Given the description of an element on the screen output the (x, y) to click on. 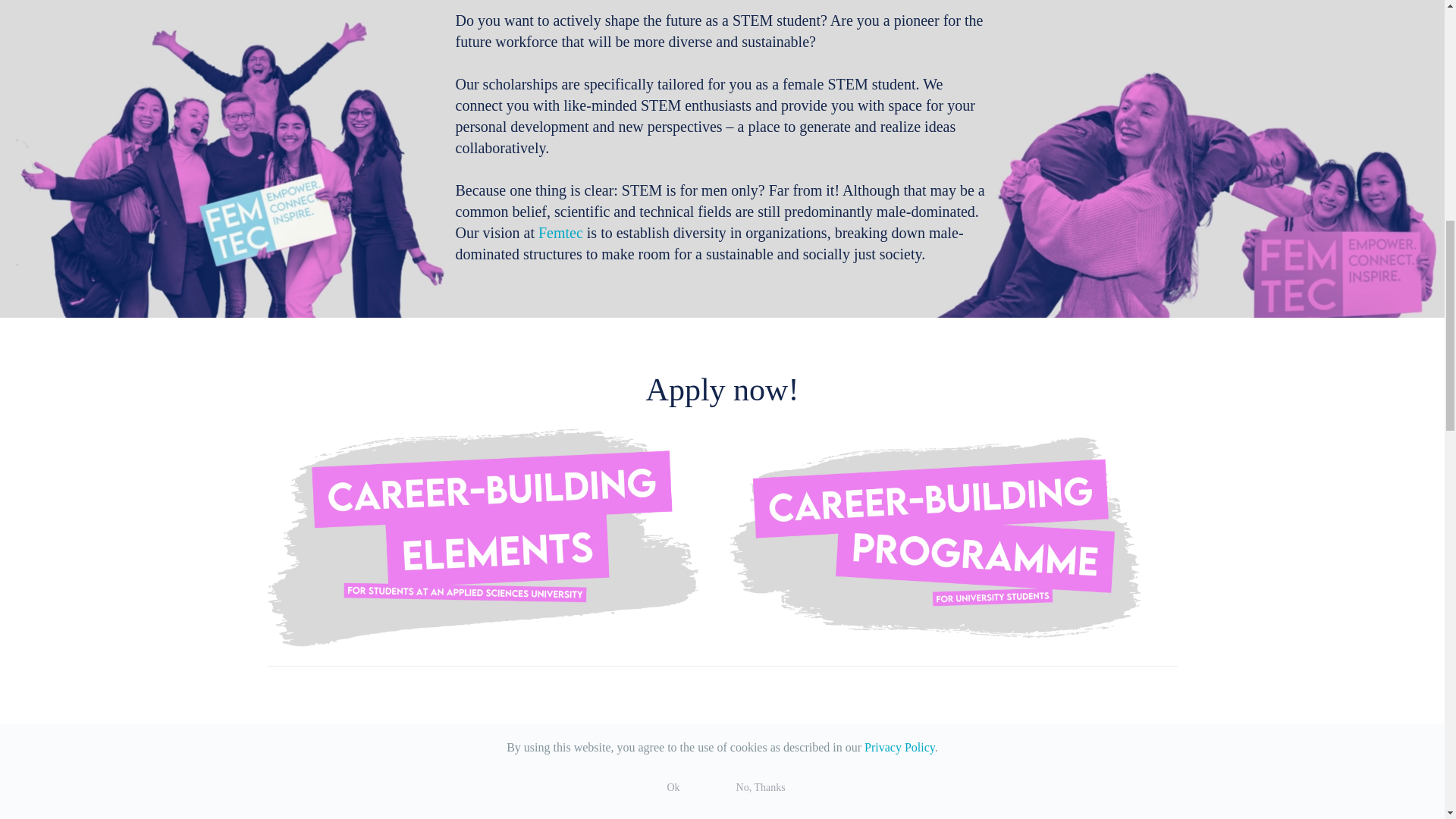
Femtec (560, 232)
